Given the description of an element on the screen output the (x, y) to click on. 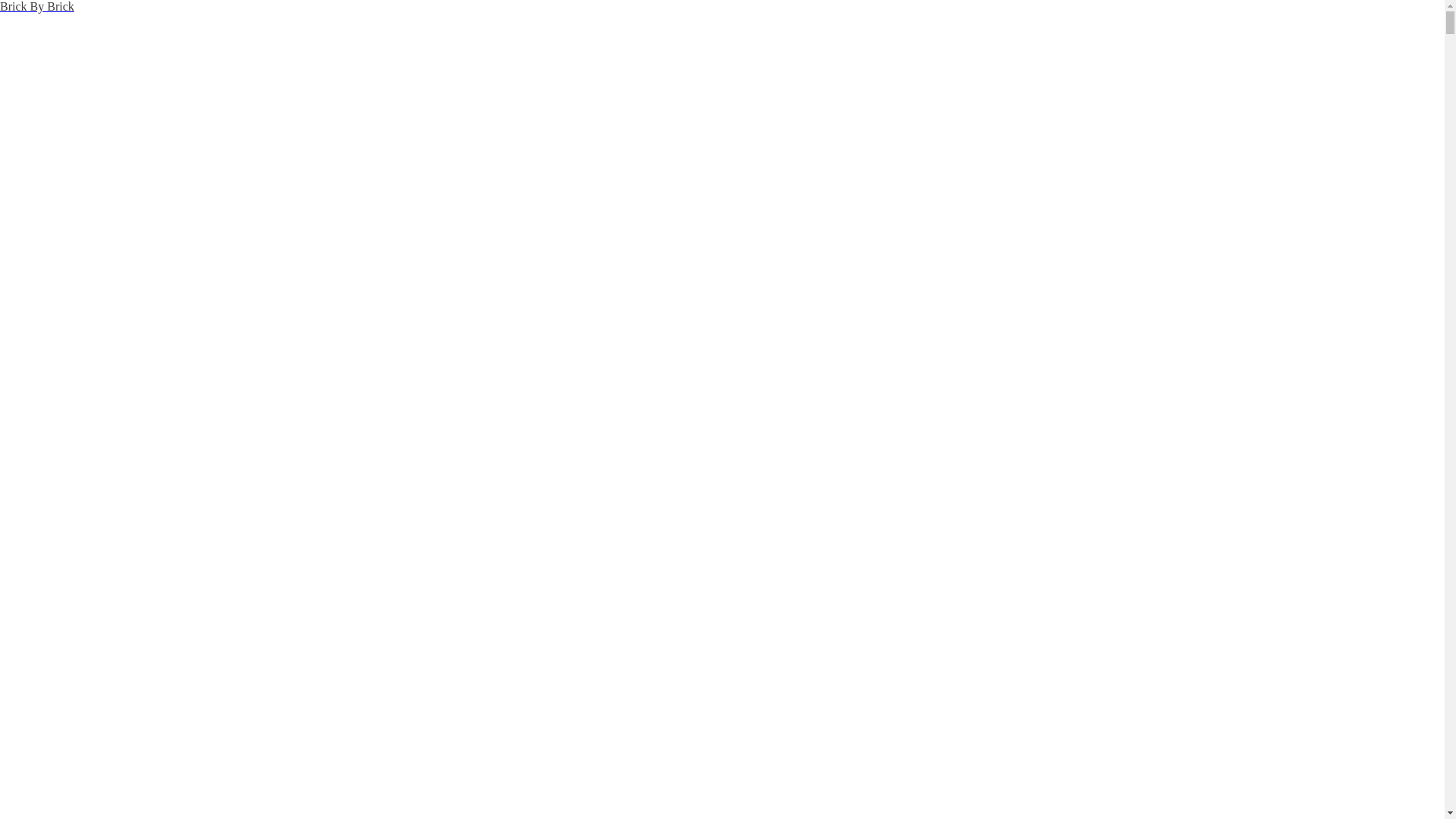
Brick By Brick Element type: text (37, 6)
